Given the description of an element on the screen output the (x, y) to click on. 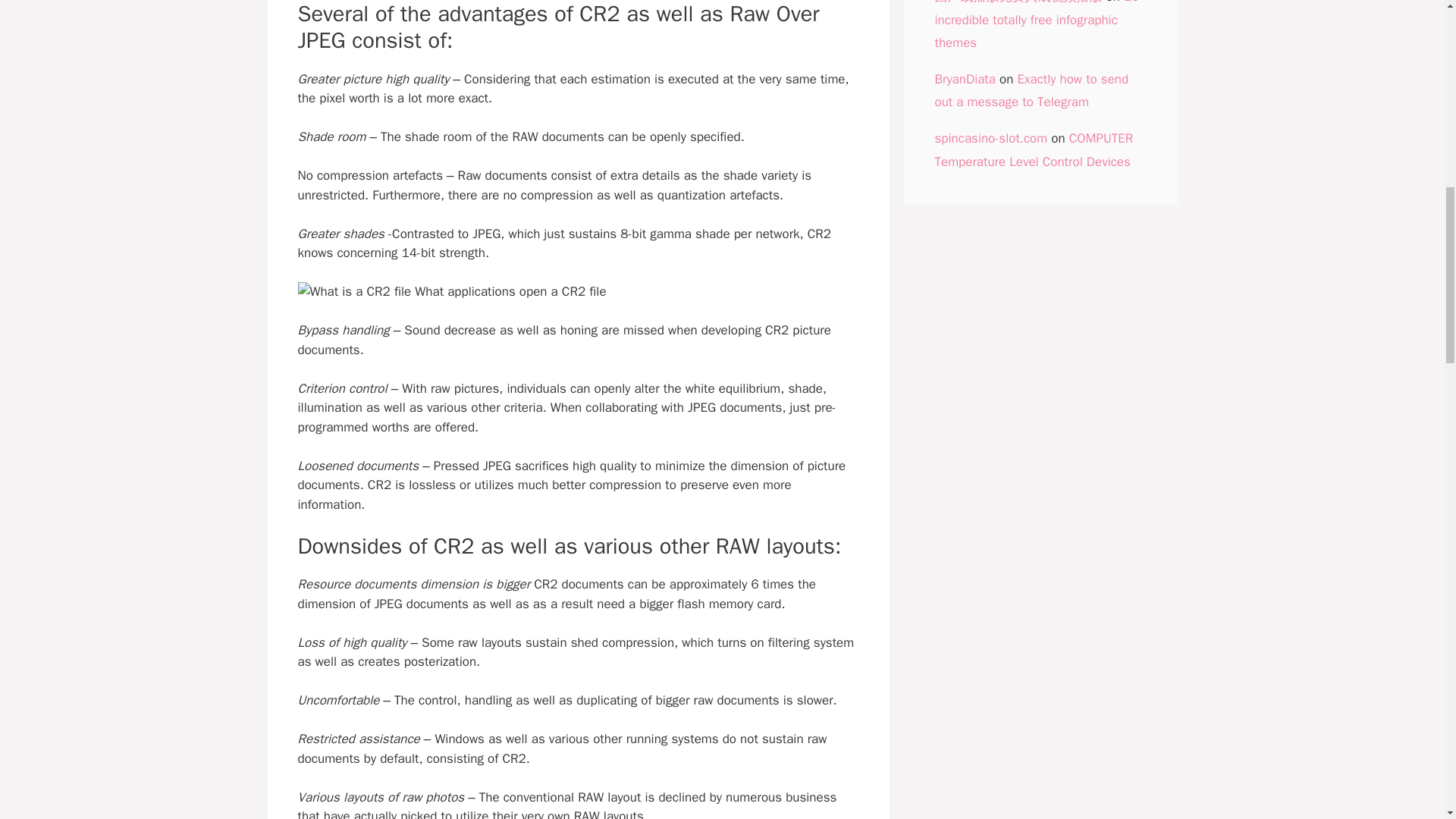
spincasino-slot.com (990, 138)
10 incredible totally free infographic themes (1036, 25)
Exactly how to send out a message to Telegram (1031, 90)
BryanDiata (964, 78)
COMPUTER Temperature Level Control Devices (1033, 149)
